Given the description of an element on the screen output the (x, y) to click on. 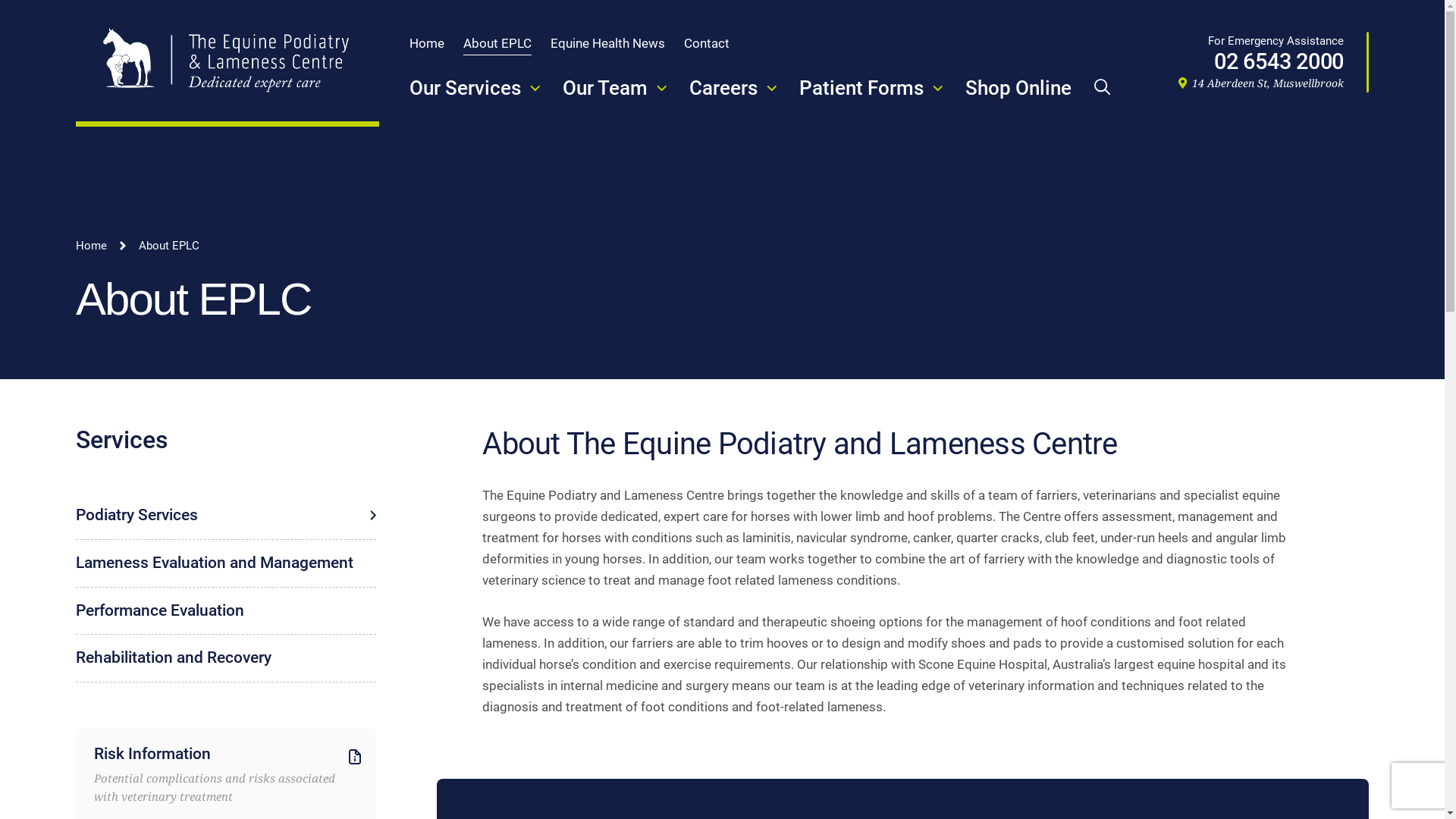
Equine Health News Element type: text (607, 42)
Shop Online Element type: text (1018, 87)
Podiatry Services Element type: text (225, 515)
Rehabilitation and Recovery Element type: text (225, 657)
Our Services Element type: text (474, 87)
Lameness Evaluation and Management Element type: text (225, 562)
Home Element type: text (90, 245)
About EPLC Element type: text (497, 42)
02 6543 2000 Element type: text (1260, 62)
Patient Forms Element type: text (870, 87)
Home Element type: text (426, 42)
Search Element type: text (1102, 86)
Contact Element type: text (706, 42)
Performance Evaluation Element type: text (225, 610)
14 Aberdeen St, Muswellbrook Element type: text (1260, 83)
Careers Element type: text (732, 87)
Our Team Element type: text (614, 87)
Search Element type: text (102, 57)
